Given the description of an element on the screen output the (x, y) to click on. 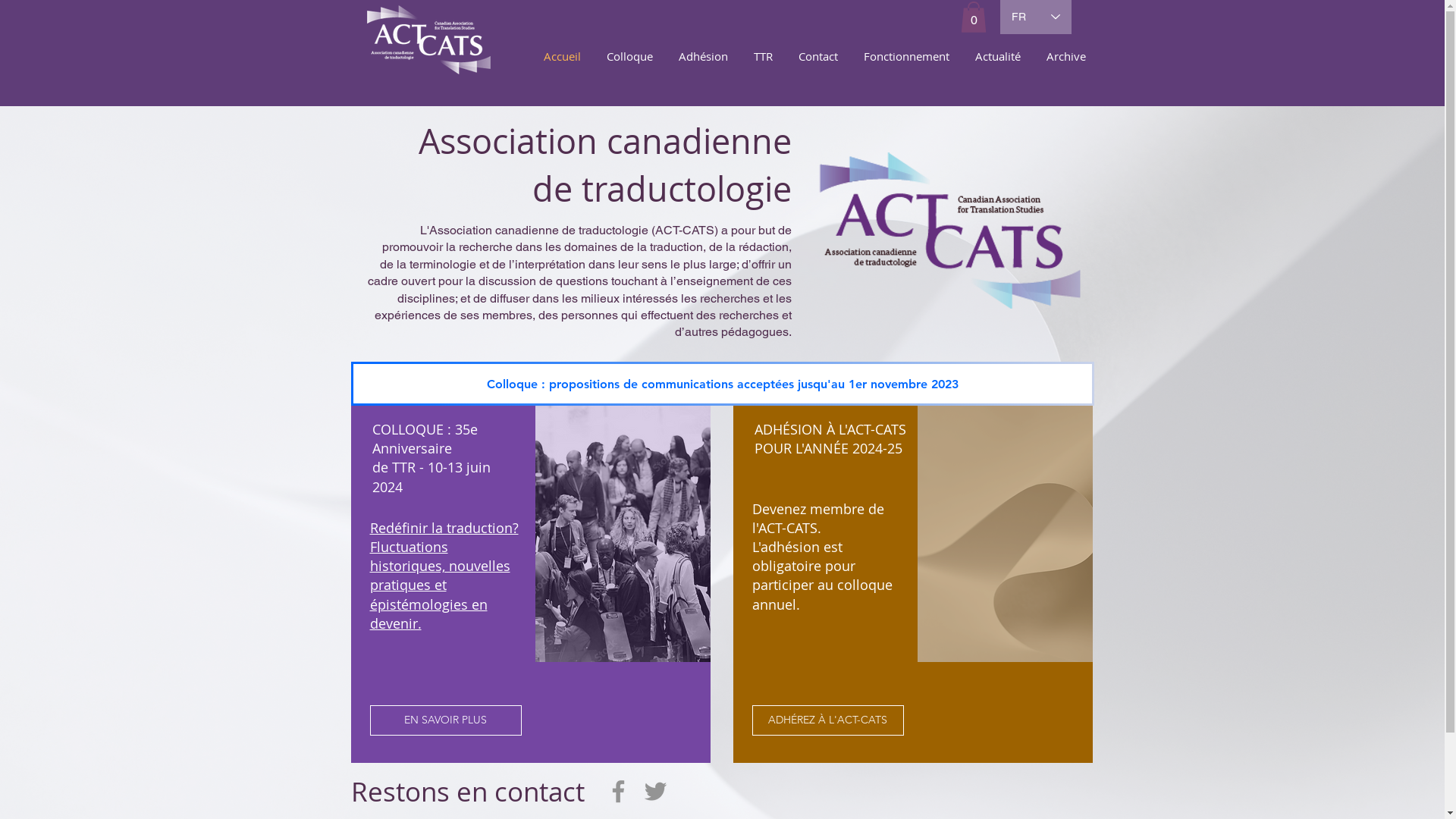
EN SAVOIR PLUS Element type: text (445, 720)
Contact Element type: text (811, 56)
Colloque Element type: text (623, 56)
Archive Element type: text (1059, 56)
Fonctionnement Element type: text (899, 56)
Accueil Element type: text (555, 56)
0 Element type: text (972, 16)
TTR Element type: text (756, 56)
